Given the description of an element on the screen output the (x, y) to click on. 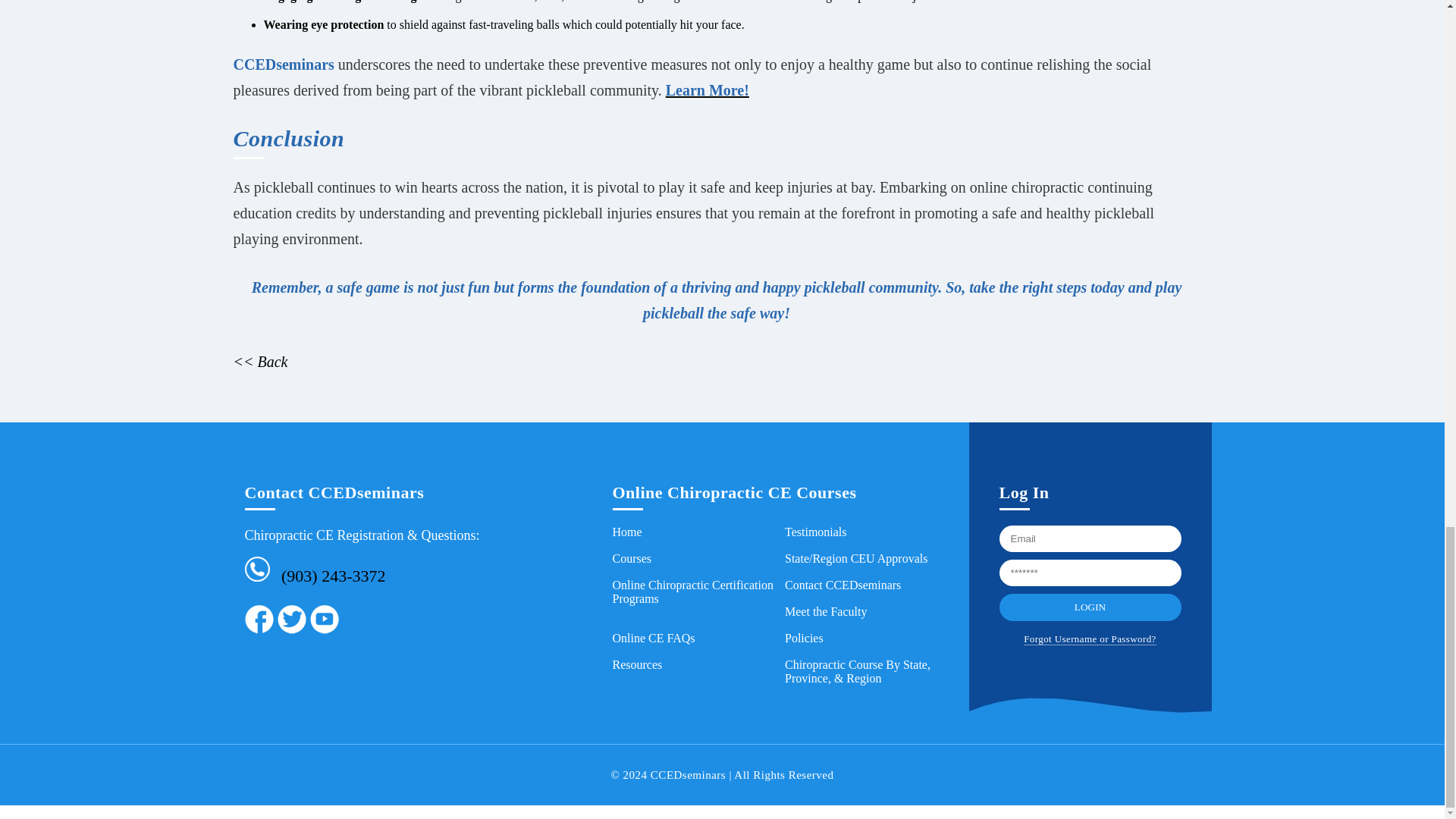
Resources (637, 664)
Online CE FAQs (653, 637)
CCEDseminars Home (627, 531)
Login (1089, 606)
Forgot Username or Password? (1089, 639)
Meet the Faculty (825, 611)
Home (627, 531)
Learn More! (707, 89)
Online Chiropractic Certification Programs (692, 591)
Contact CCEDseminars (842, 584)
